Given the description of an element on the screen output the (x, y) to click on. 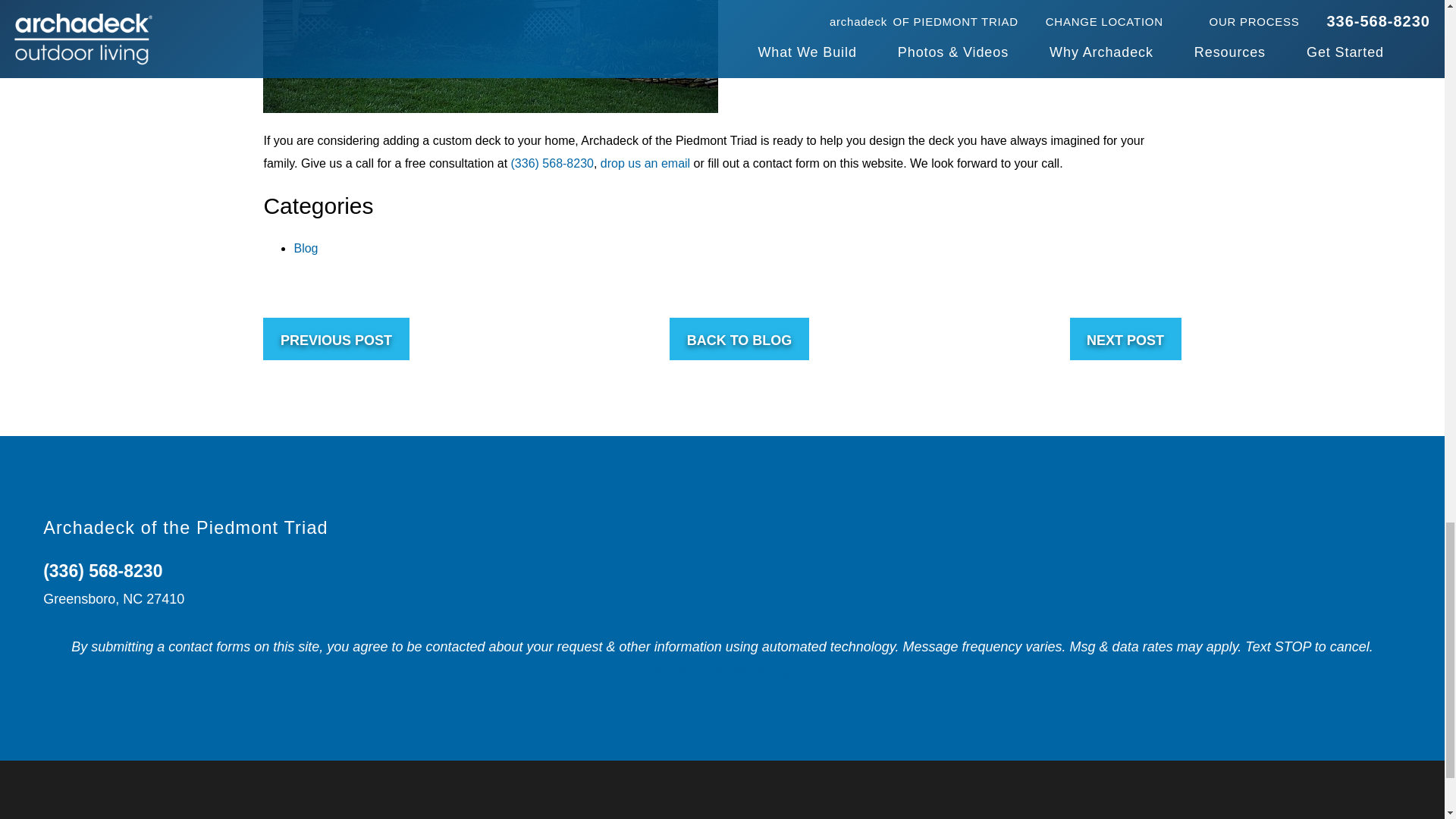
LinkedIn (1253, 529)
Instagram (1328, 602)
YouTube (1289, 529)
Pinterest (1253, 565)
BBB (1328, 565)
Porch (1289, 565)
Houzz (1215, 565)
Facebook (1215, 529)
Google My Business (1328, 529)
